Given the description of an element on the screen output the (x, y) to click on. 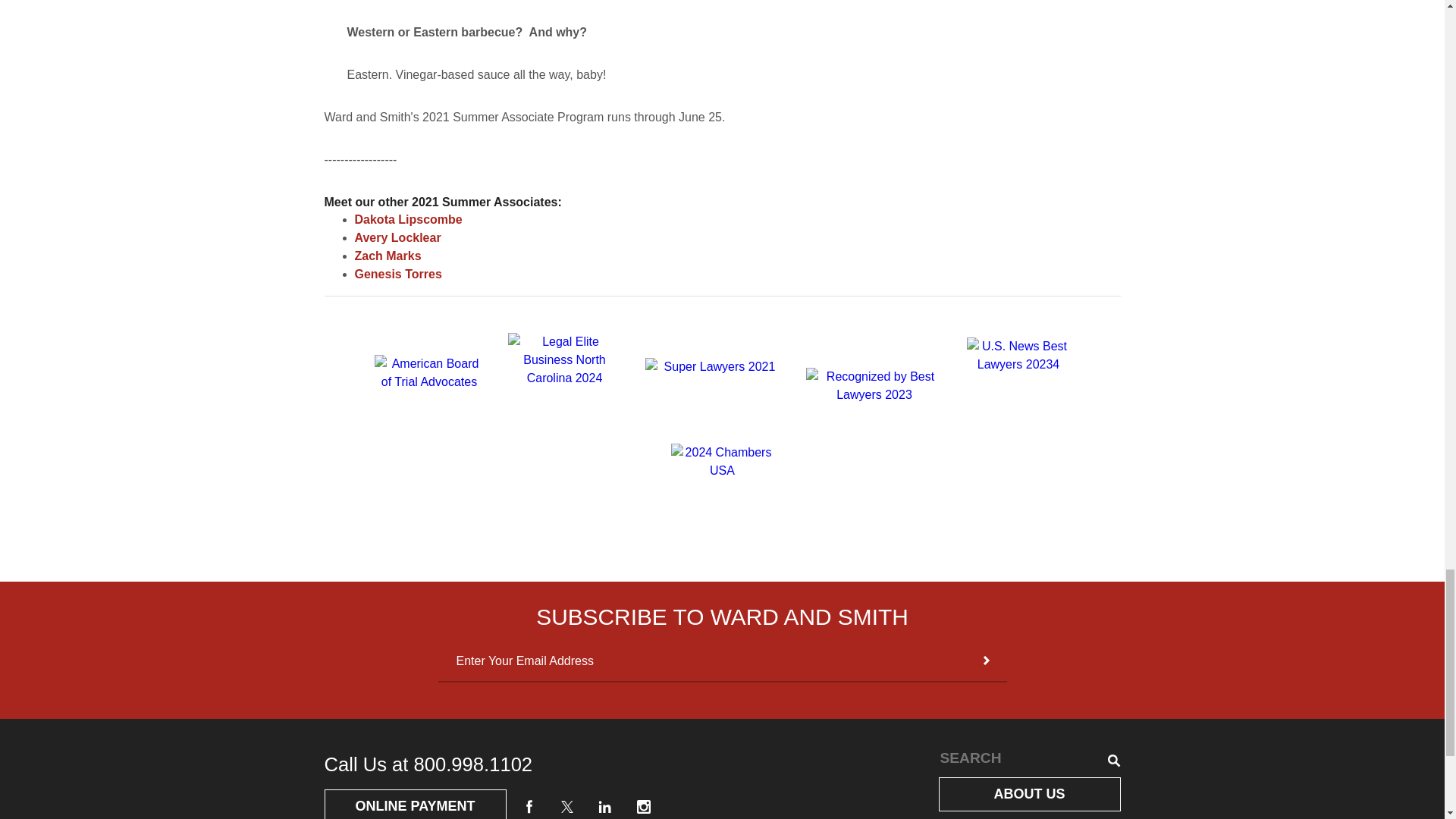
ABOUT US (1030, 794)
Genesis Torres (398, 273)
Avery Locklear (398, 237)
Dakota Lipscombe (409, 219)
Avery Locklear (398, 237)
Zach Marks (388, 255)
Genesis Torres (398, 273)
Zach Marks (388, 255)
Dakota Lipescombe (409, 219)
